Given the description of an element on the screen output the (x, y) to click on. 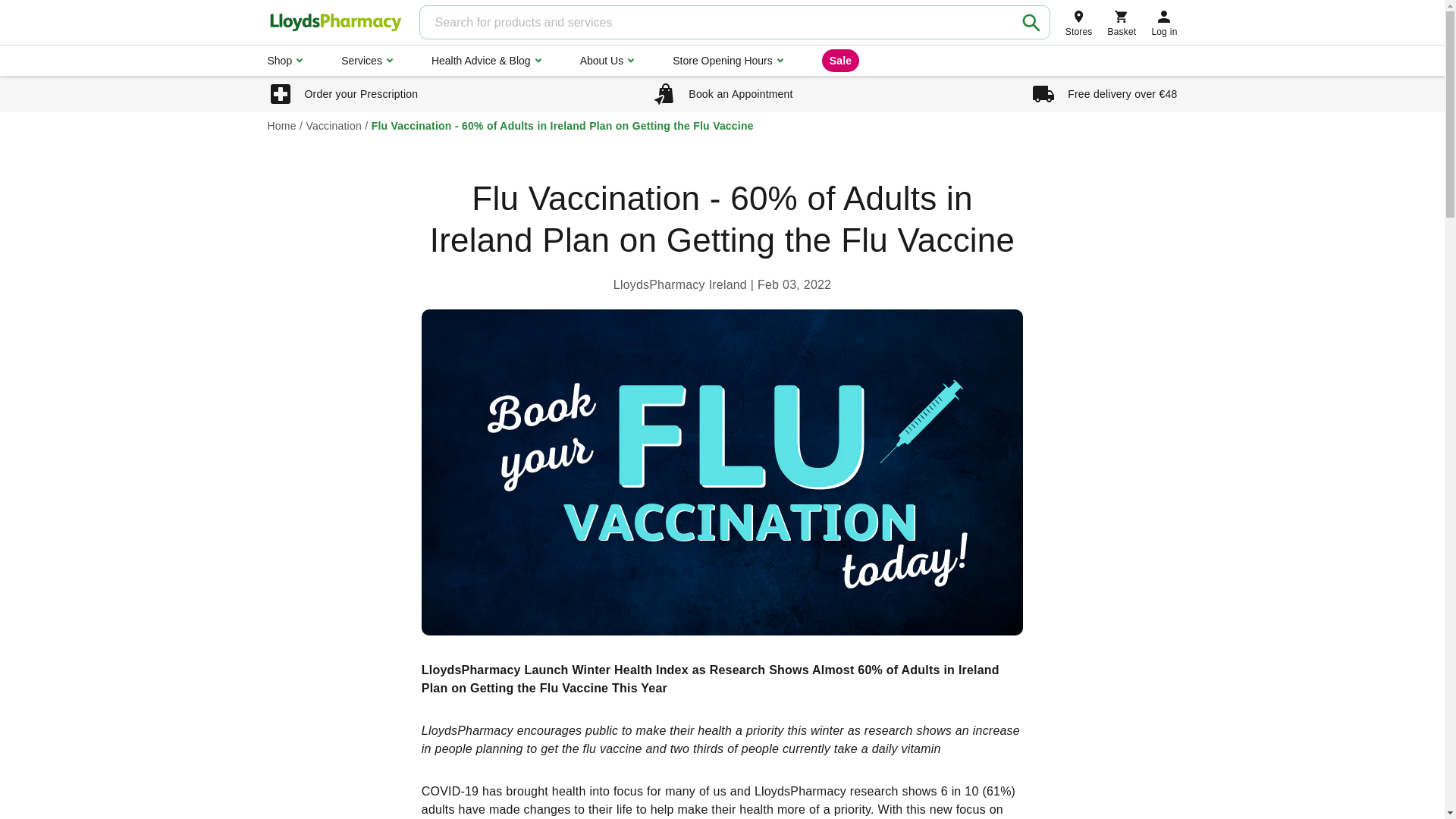
Stores (1079, 22)
Basket (1122, 22)
Go to LloydsPharmacy home (334, 22)
Home (280, 125)
